Given the description of an element on the screen output the (x, y) to click on. 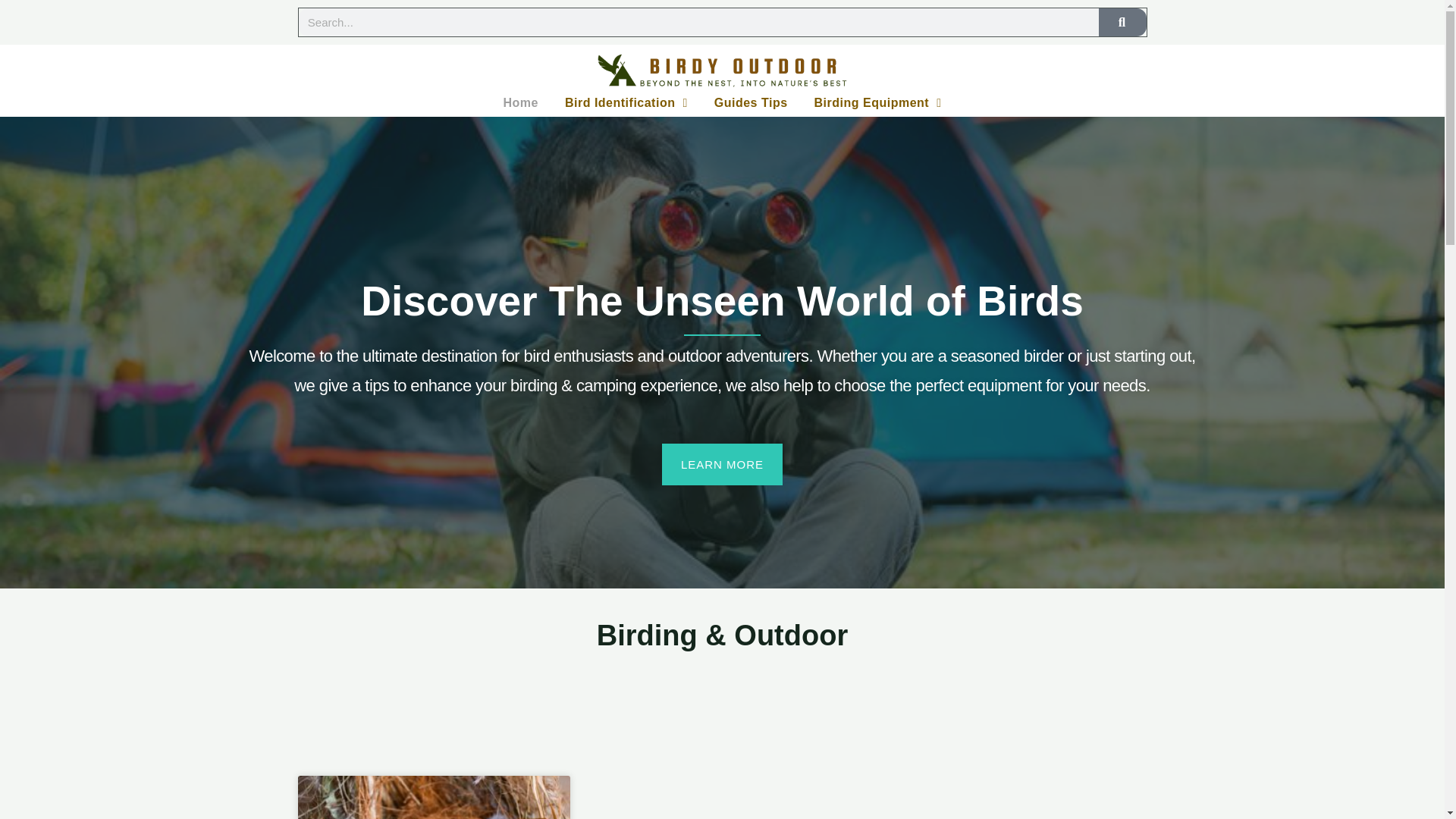
SEARCH (1123, 22)
Bird Identification (625, 103)
Birding Equipment (878, 103)
LEARN MORE (722, 464)
Guides Tips (751, 103)
Home (520, 103)
